Given the description of an element on the screen output the (x, y) to click on. 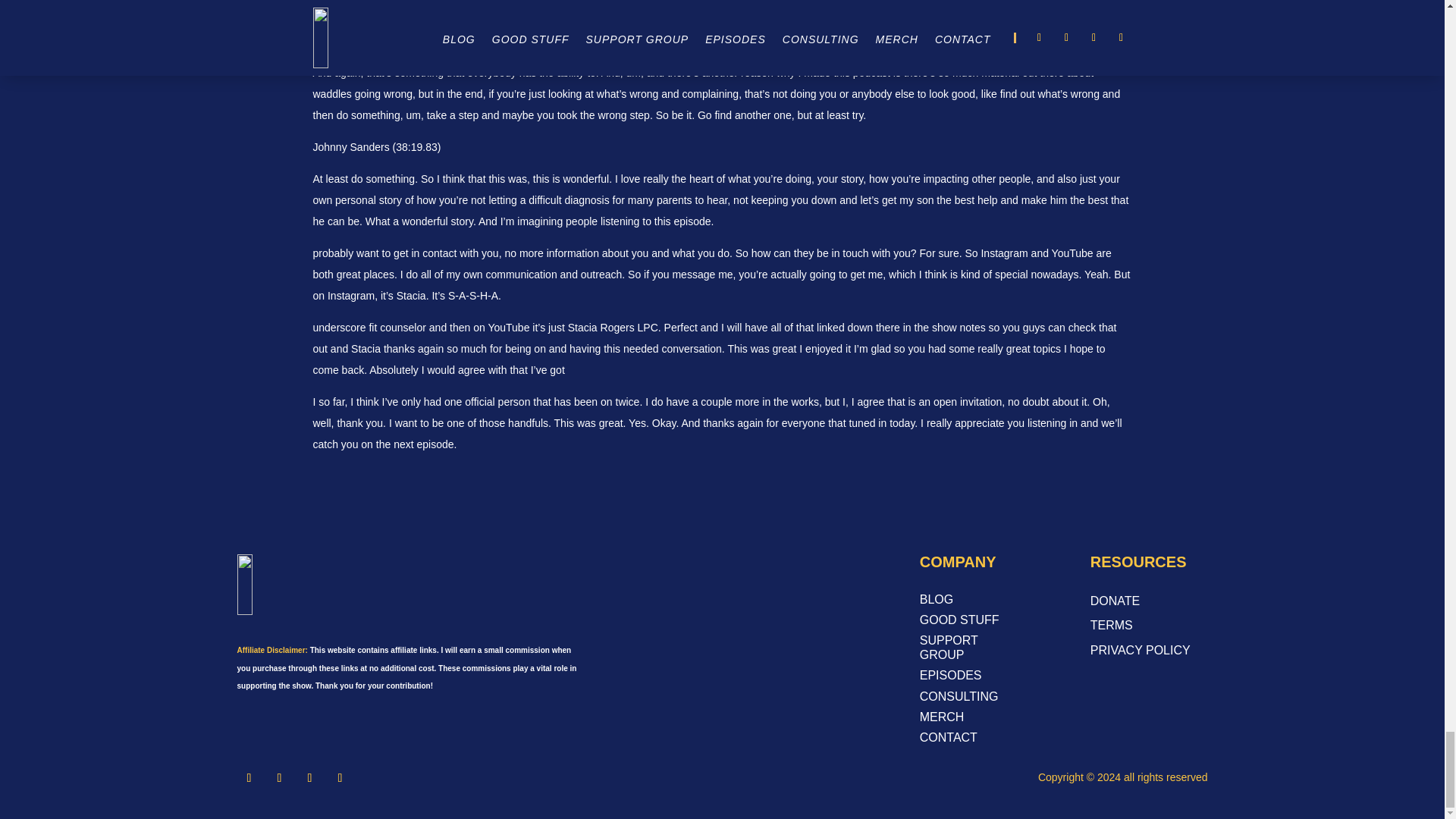
SUPPORT GROUP (970, 650)
CONTACT (970, 740)
Follow on X (278, 777)
GOOD STUFF (970, 622)
EPISODES (970, 678)
MERCH (970, 720)
Follow on Facebook (247, 777)
BLOG (970, 602)
CONSULTING (970, 699)
